Given the description of an element on the screen output the (x, y) to click on. 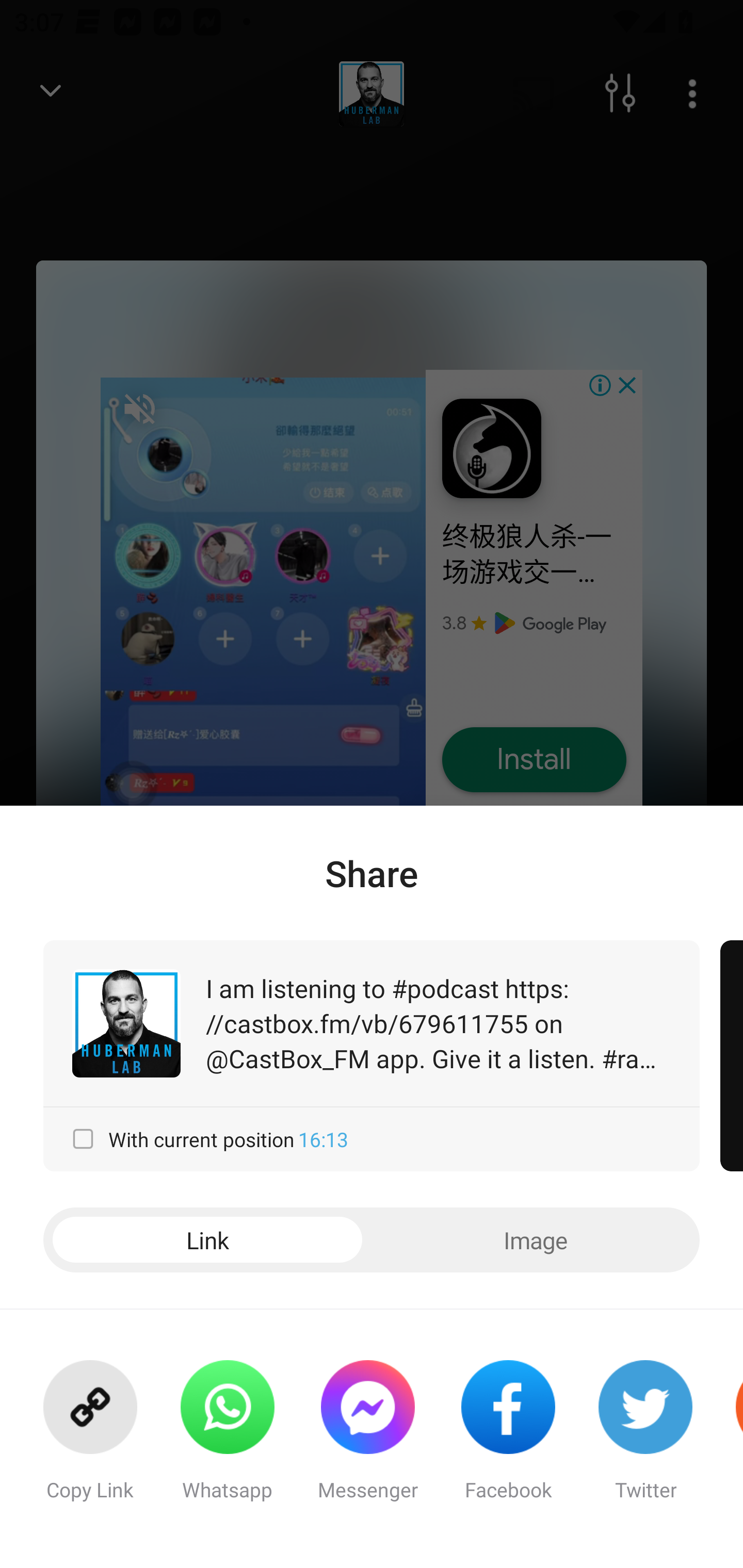
With current position 16:13 (371, 1138)
Link (207, 1240)
Image (535, 1240)
Copy Link (90, 1438)
Whatsapp (227, 1438)
Messenger (367, 1438)
Facebook (508, 1438)
Twitter (645, 1438)
